Given the description of an element on the screen output the (x, y) to click on. 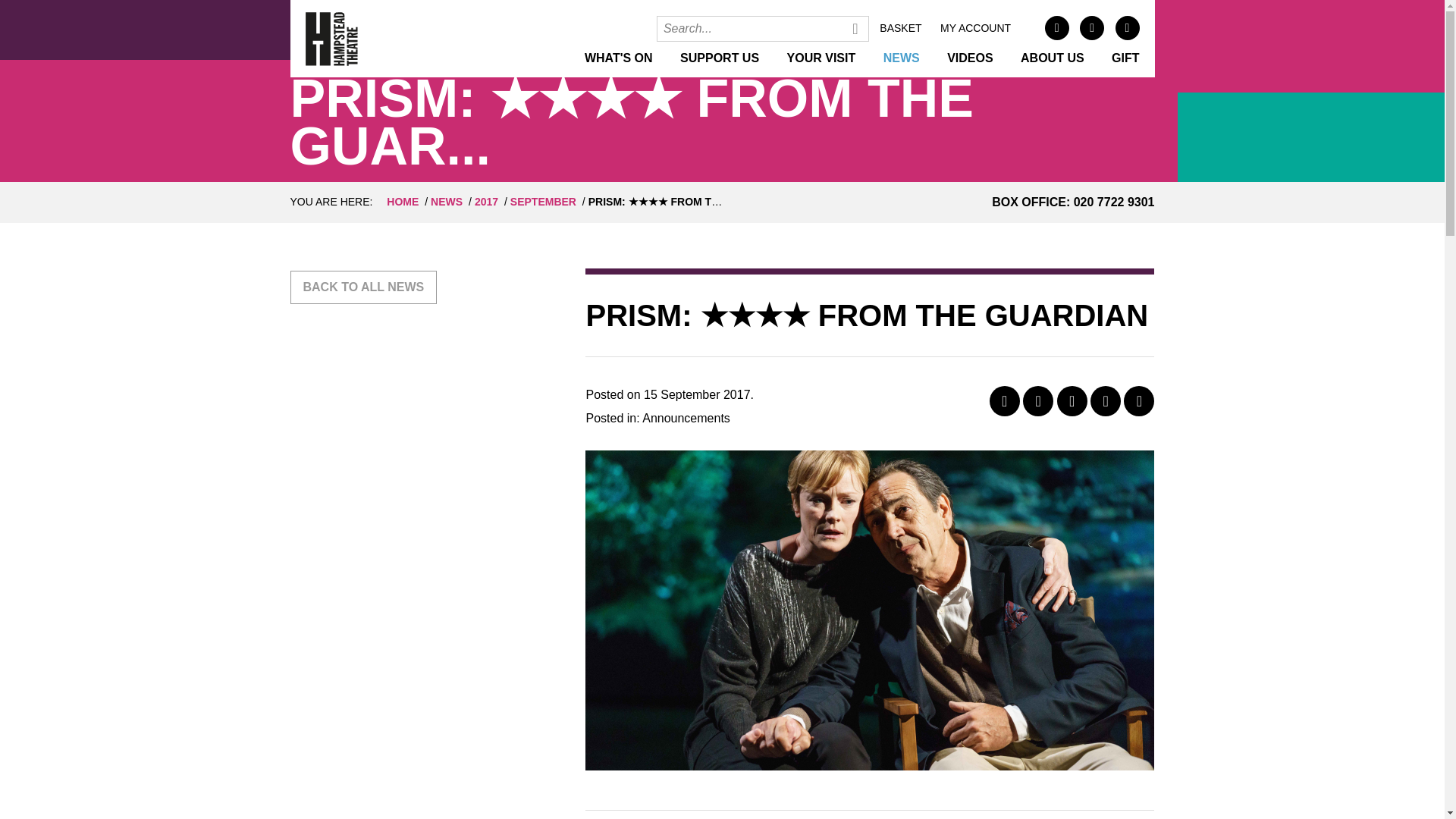
NEWS (446, 201)
MY ACCOUNT (975, 28)
BACK TO ALL NEWS (362, 287)
VIDEOS (969, 58)
SEPTEMBER (543, 201)
WHAT'S ON (618, 58)
GIFT (1125, 58)
YOUR VISIT (821, 58)
SUPPORT US (718, 58)
SEARCH (855, 28)
